Given the description of an element on the screen output the (x, y) to click on. 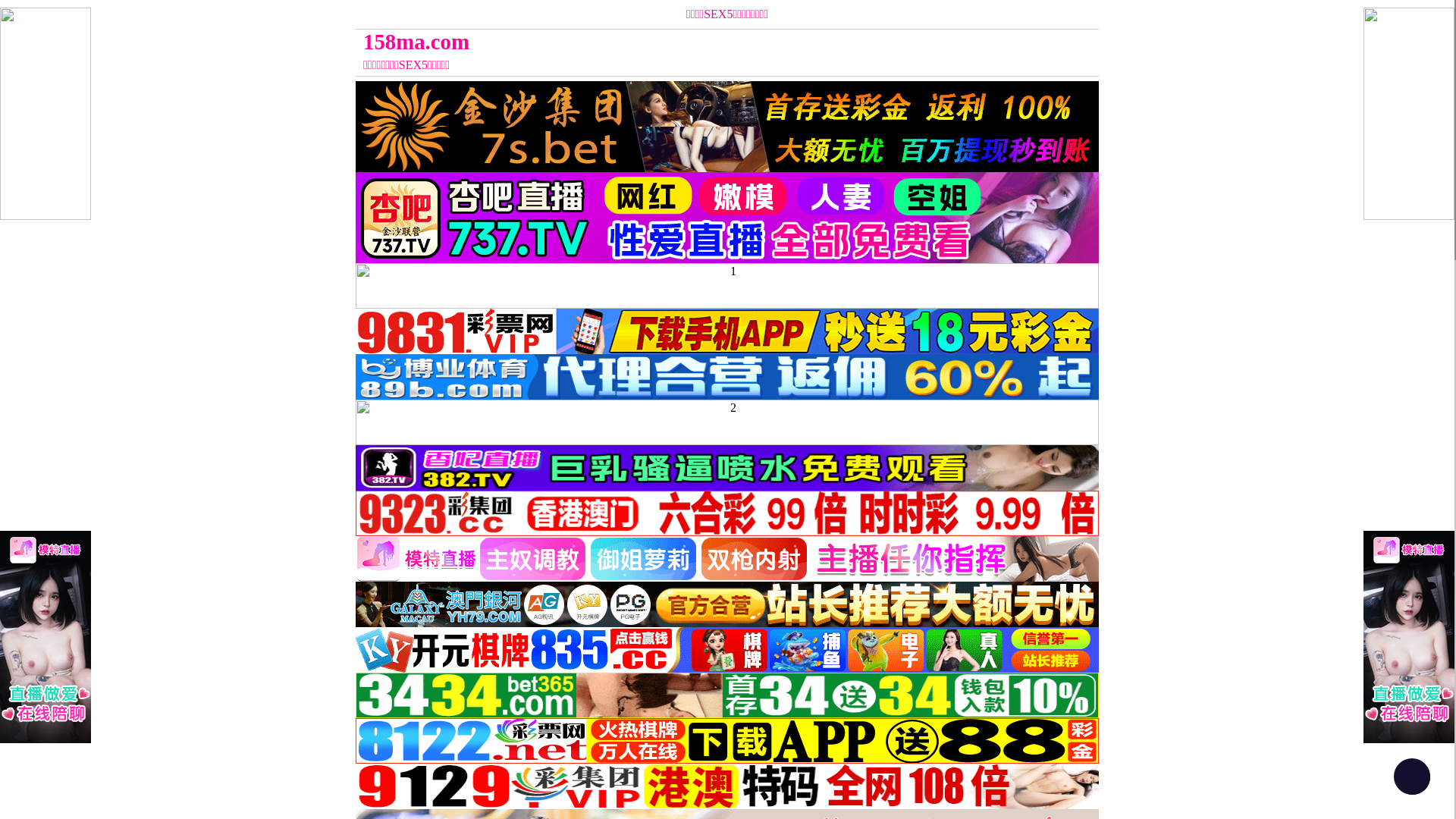
158ma.com Element type: text (634, 41)
